Given the description of an element on the screen output the (x, y) to click on. 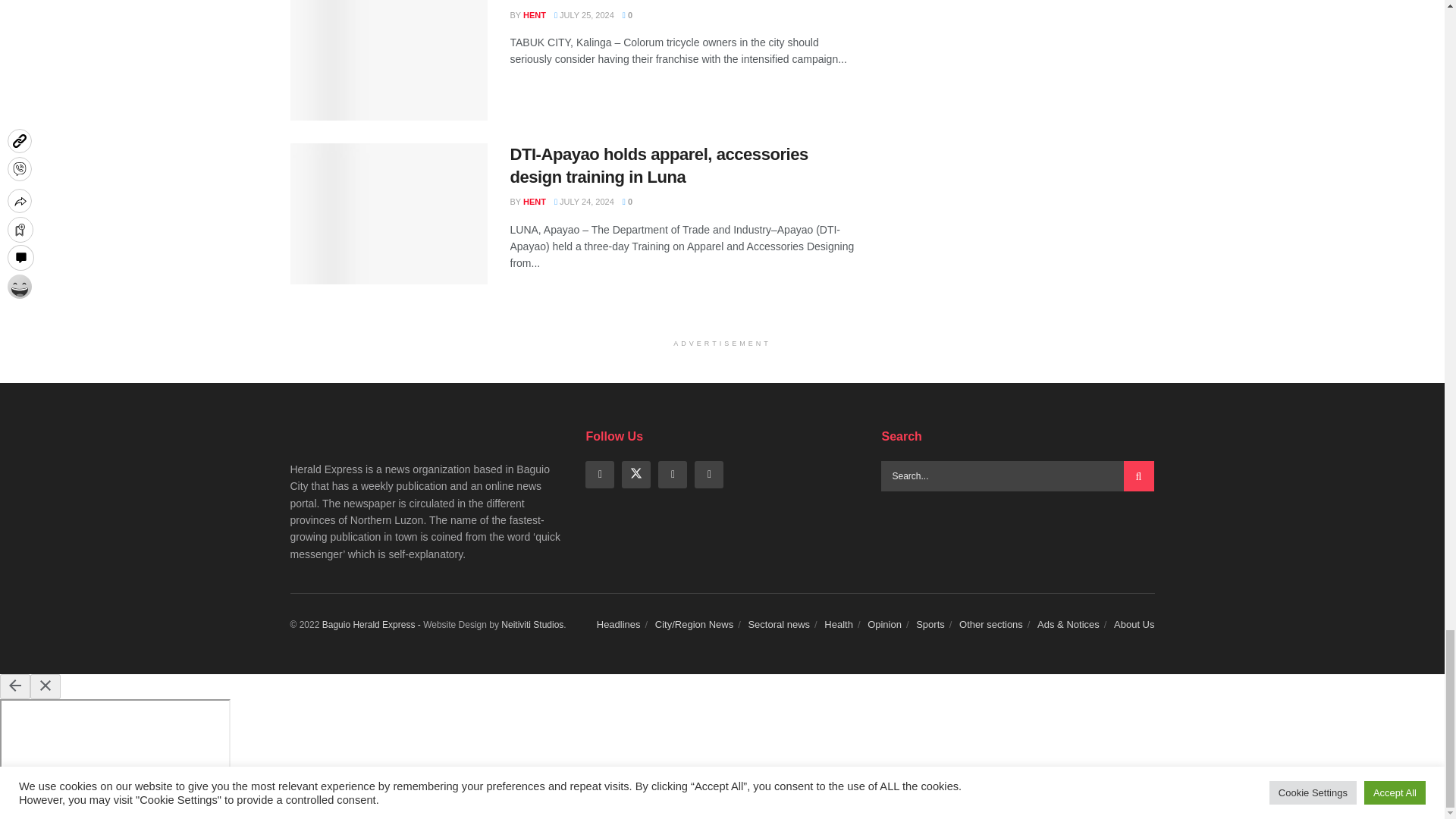
Neitiviti Studios (531, 624)
Website design by (372, 624)
